Given the description of an element on the screen output the (x, y) to click on. 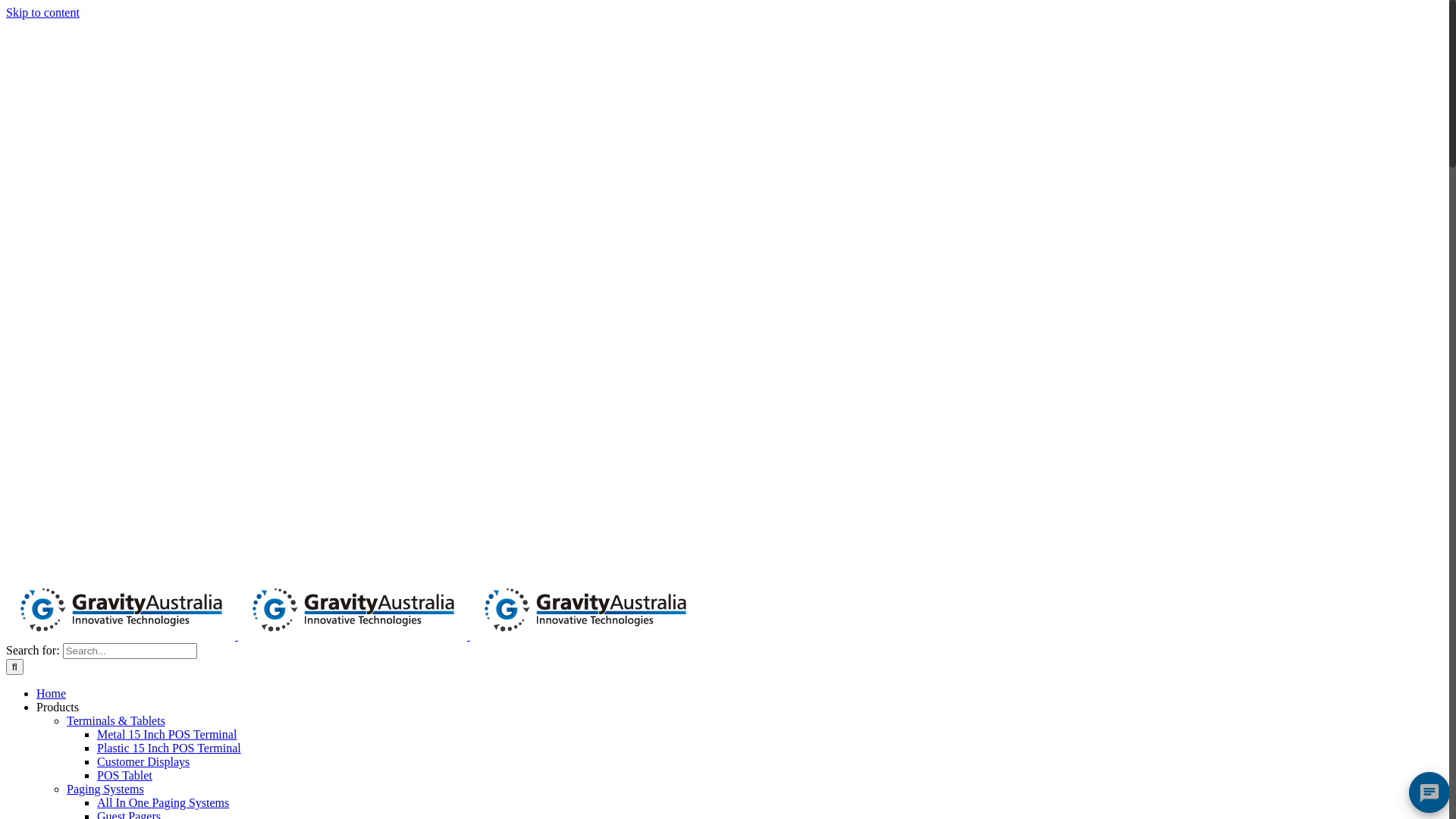
Home Element type: text (50, 693)
Metal 15 Inch POS Terminal Element type: text (166, 734)
All In One Paging Systems Element type: text (163, 802)
Paging Systems Element type: text (105, 788)
Customer Displays Element type: text (143, 761)
Terminals & Tablets Element type: text (115, 720)
Plastic 15 Inch POS Terminal Element type: text (169, 747)
Skip to content Element type: text (42, 12)
Products Element type: text (57, 706)
POS Tablet Element type: text (124, 774)
